Given the description of an element on the screen output the (x, y) to click on. 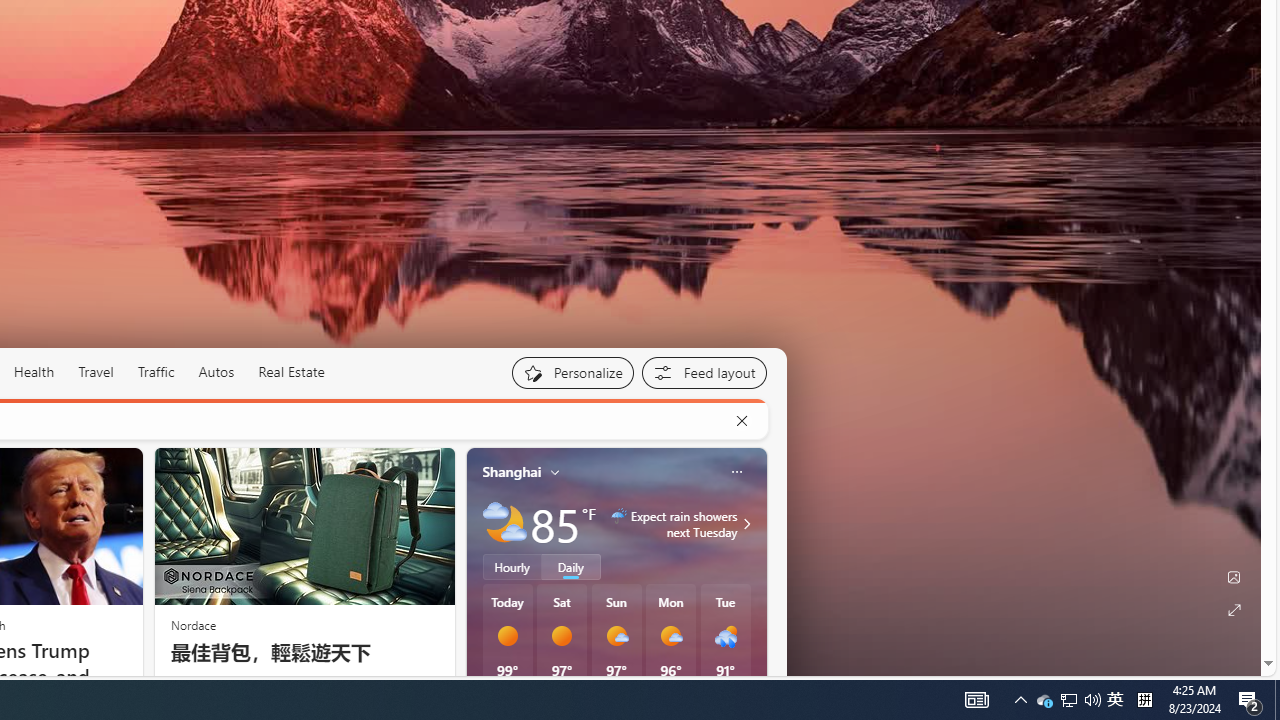
Rain showers (725, 636)
Expect rain showers next Tuesday (744, 523)
Edit Background (1233, 577)
Mostly sunny (670, 636)
Class: icon-img (736, 471)
